Given the description of an element on the screen output the (x, y) to click on. 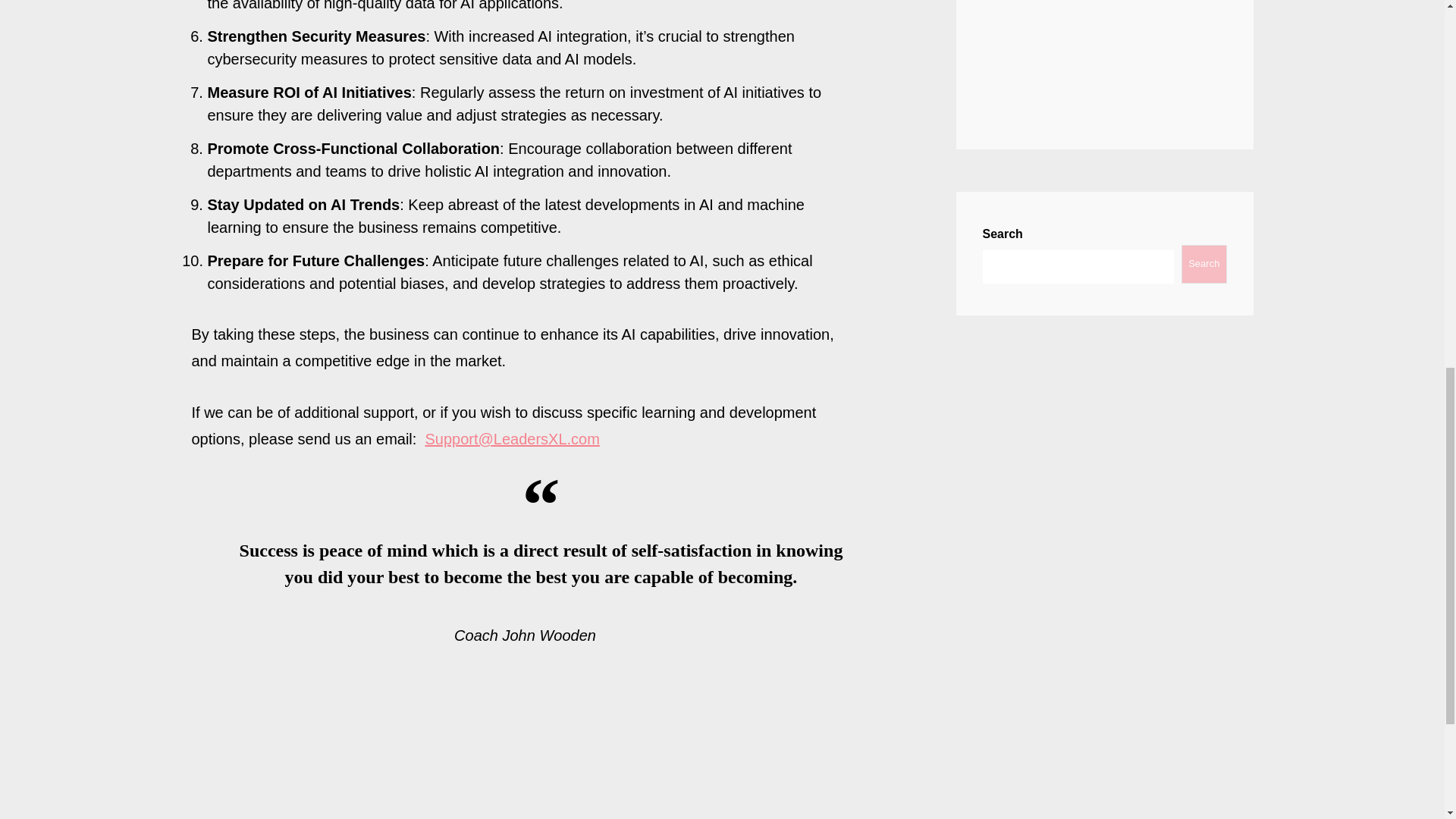
Search (1202, 263)
